Given the description of an element on the screen output the (x, y) to click on. 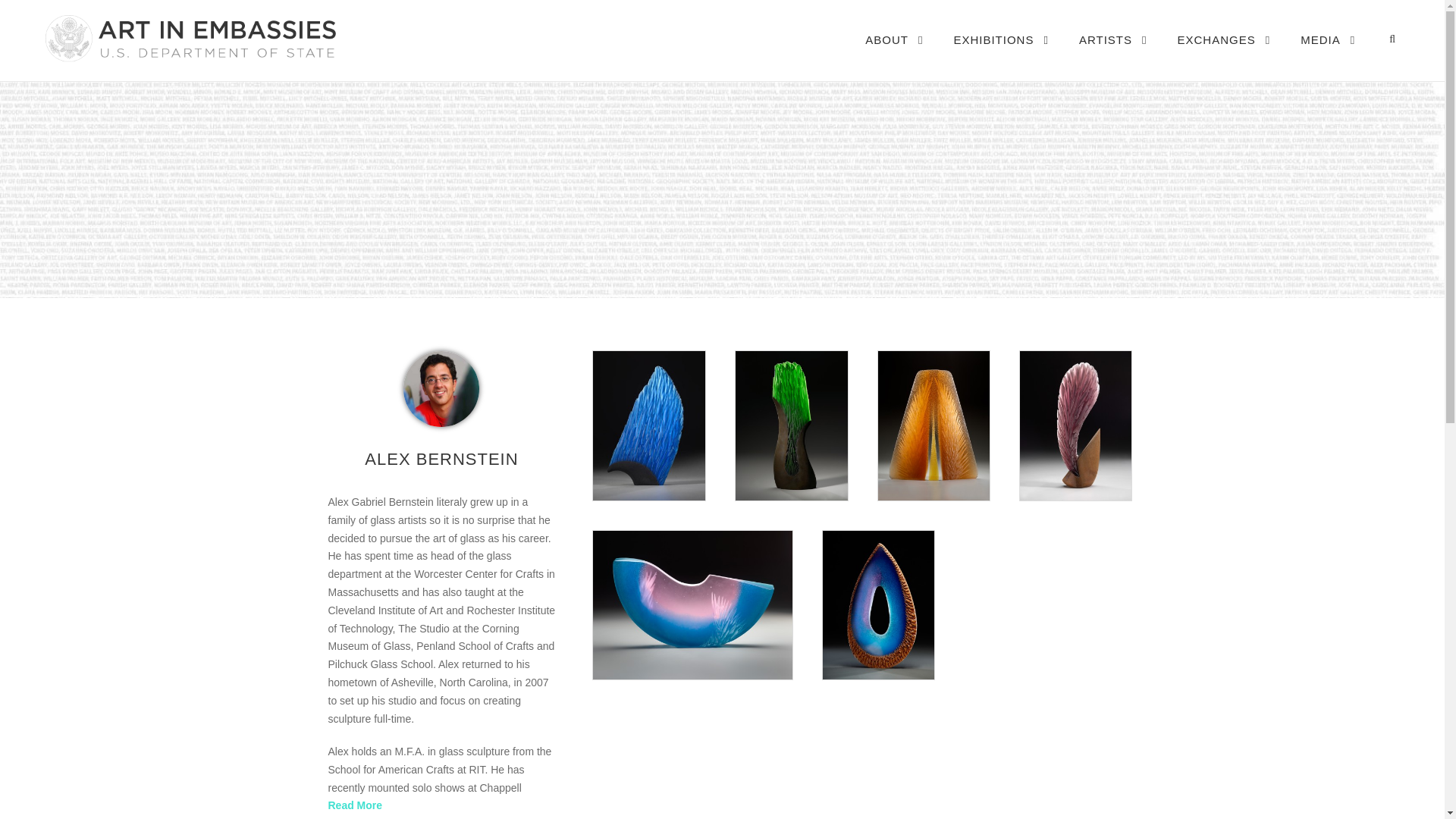
aie logo3 (188, 38)
ARTISTS (1112, 55)
ABOUT (893, 55)
MEDIA (1327, 55)
EXHIBITIONS (1000, 55)
EXCHANGES (1224, 55)
Read More (354, 805)
9969 (441, 388)
